Given the description of an element on the screen output the (x, y) to click on. 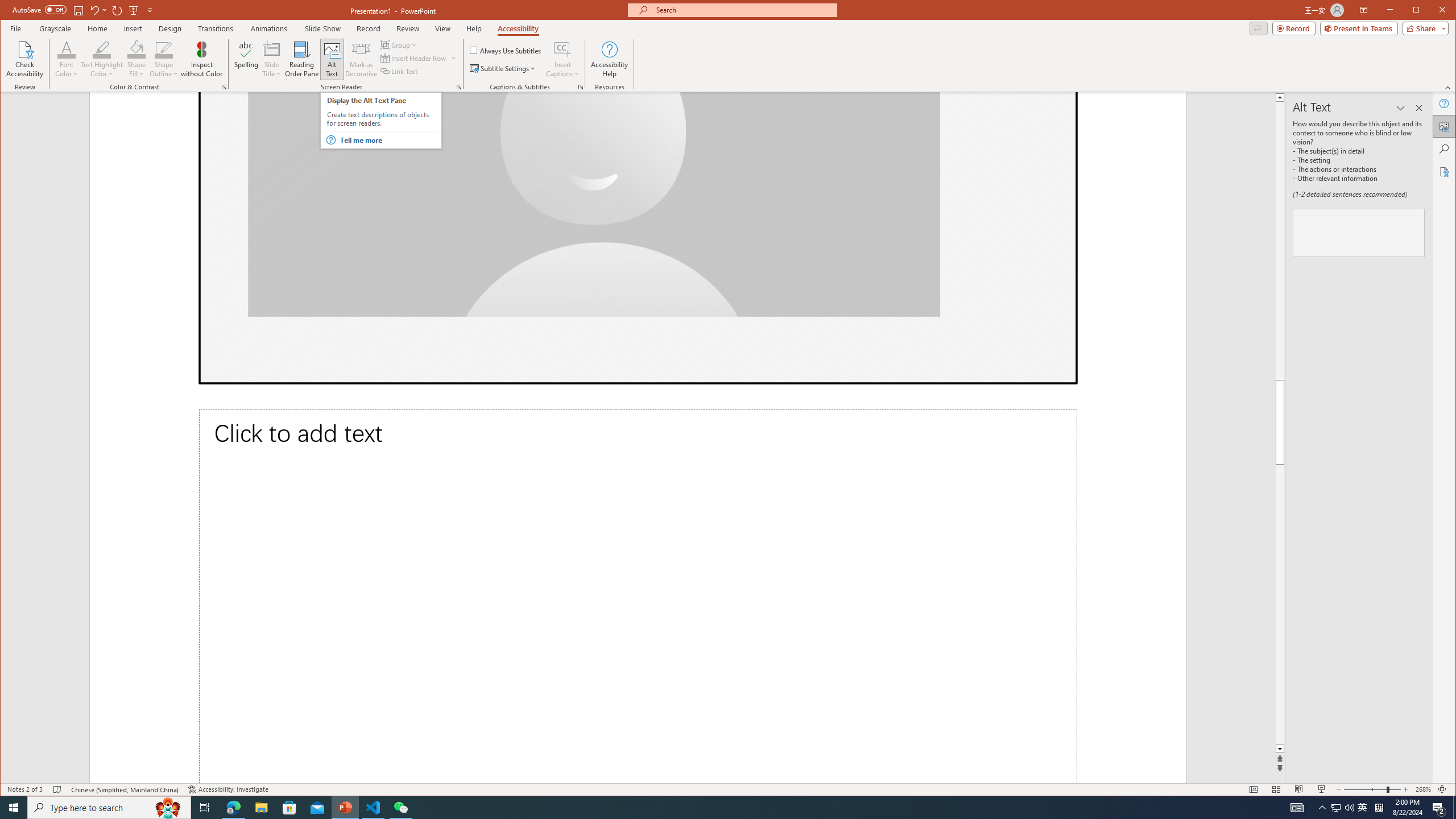
Color & Contrast (223, 86)
Inspect without Color (201, 59)
Reading Order Pane (301, 59)
